Given the description of an element on the screen output the (x, y) to click on. 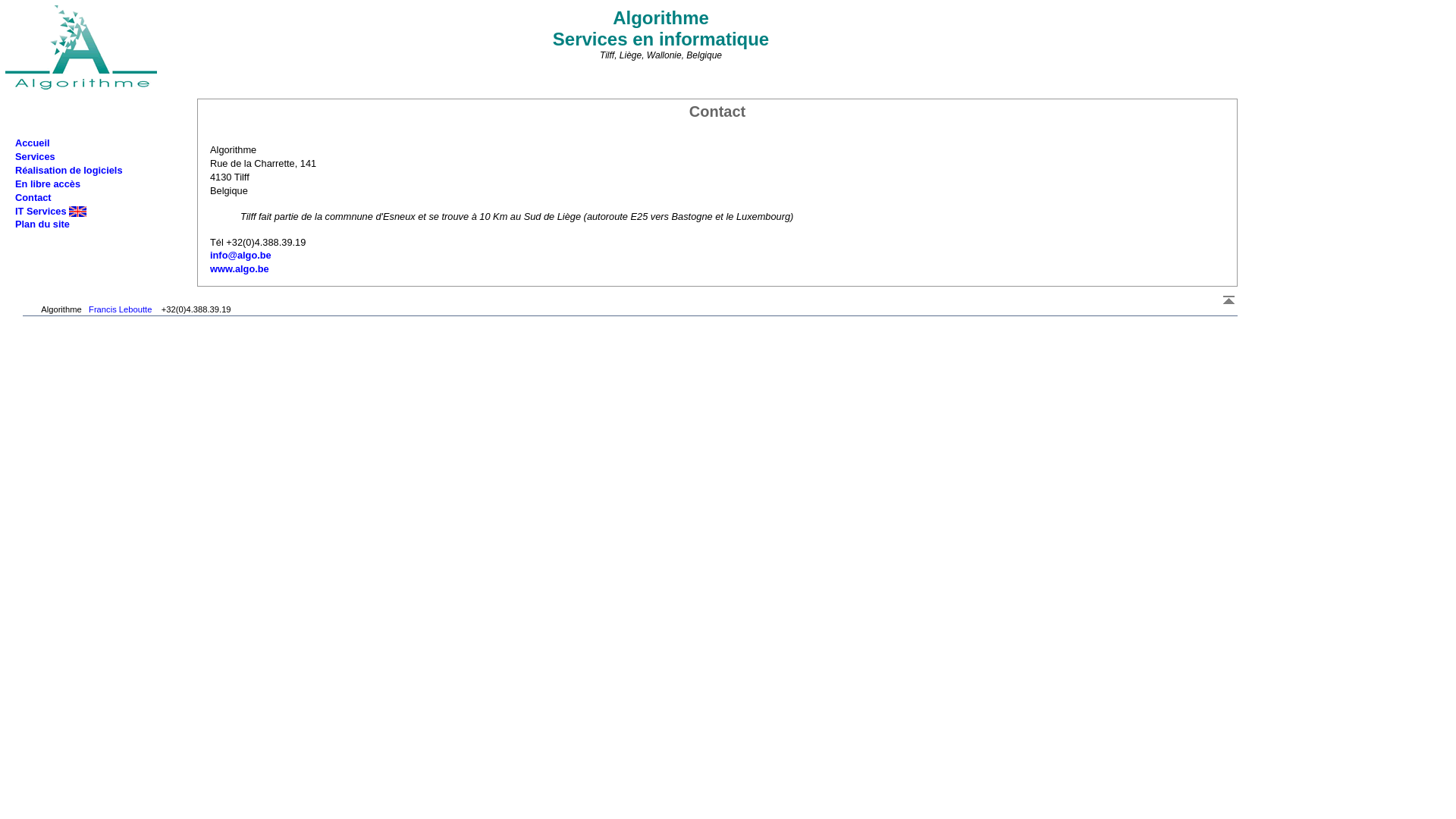
Services Element type: text (35, 156)
www.algo.be Element type: text (239, 268)
info@algo.be Element type: text (240, 254)
Contact Element type: text (33, 197)
IT Services  Element type: text (50, 210)
Plan du site Element type: text (42, 223)
Francis Leboutte Element type: text (119, 308)
Accueil Element type: text (32, 142)
